Given the description of an element on the screen output the (x, y) to click on. 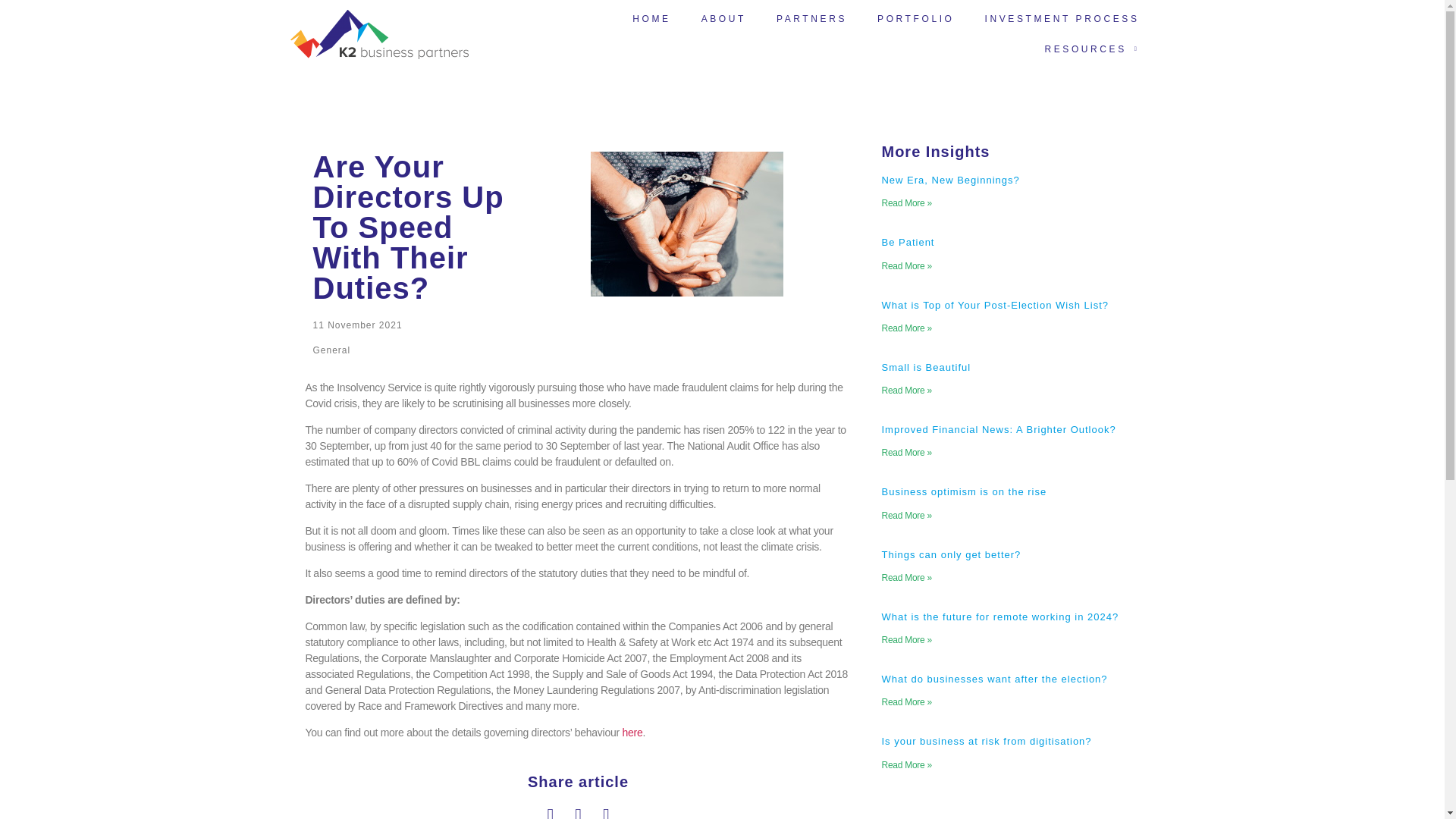
INVESTMENT PROCESS (1061, 19)
PARTNERS (811, 19)
PORTFOLIO (915, 19)
HOME (651, 19)
RESOURCES (1091, 49)
ABOUT (723, 19)
